Given the description of an element on the screen output the (x, y) to click on. 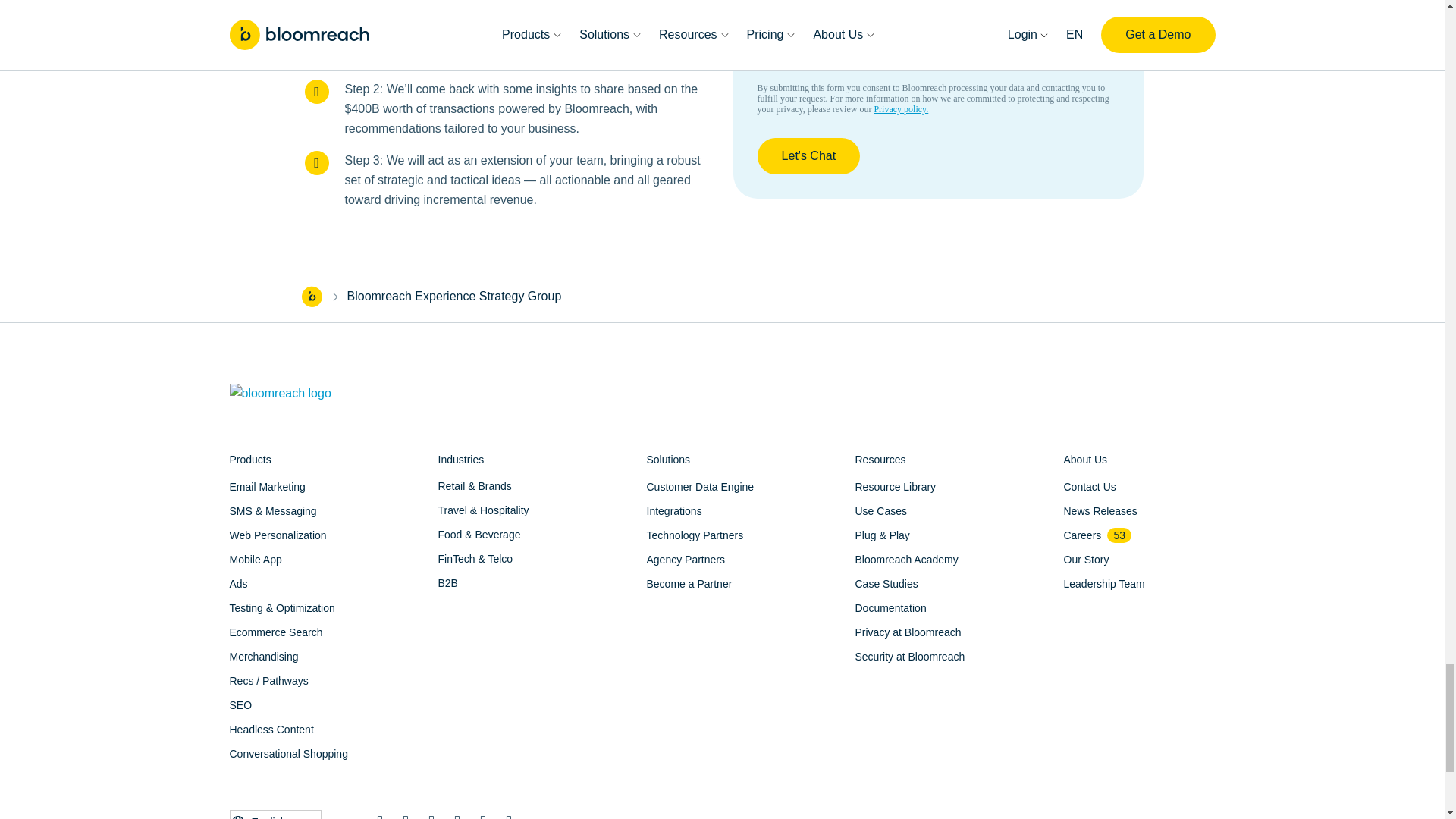
Let's Chat (808, 156)
true (764, 59)
